Given the description of an element on the screen output the (x, y) to click on. 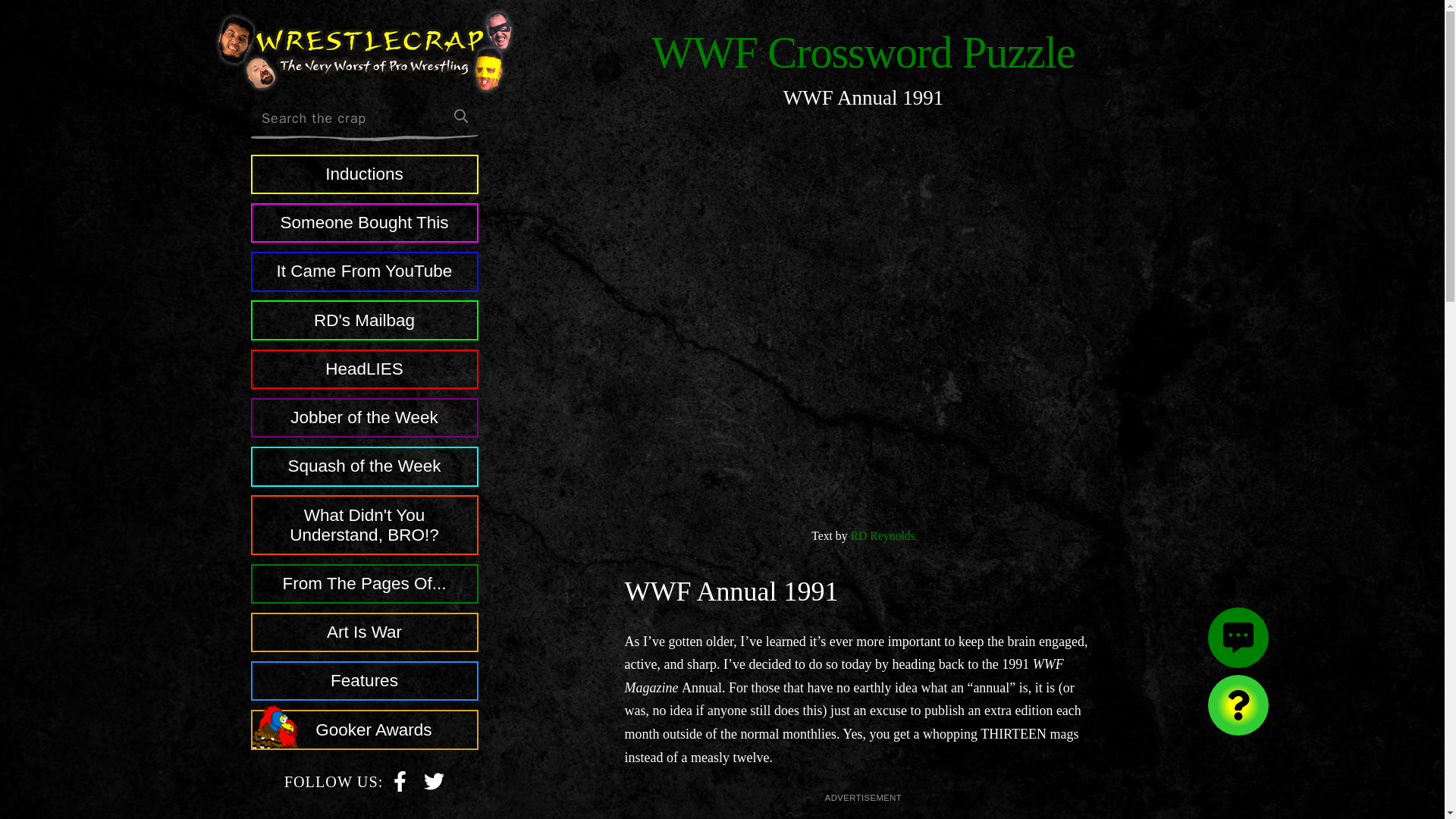
Art Is War (363, 631)
It Came From YouTube (363, 271)
HeadLIES (363, 369)
RD Reynolds (882, 535)
Features (363, 680)
From The Pages Of... (363, 583)
Squash of the Week (363, 466)
Facebook (400, 781)
Jobber of the Week (363, 417)
Inductions (363, 174)
Twitter (433, 781)
Someone Bought This (363, 222)
RD's Mailbag (433, 780)
